Given the description of an element on the screen output the (x, y) to click on. 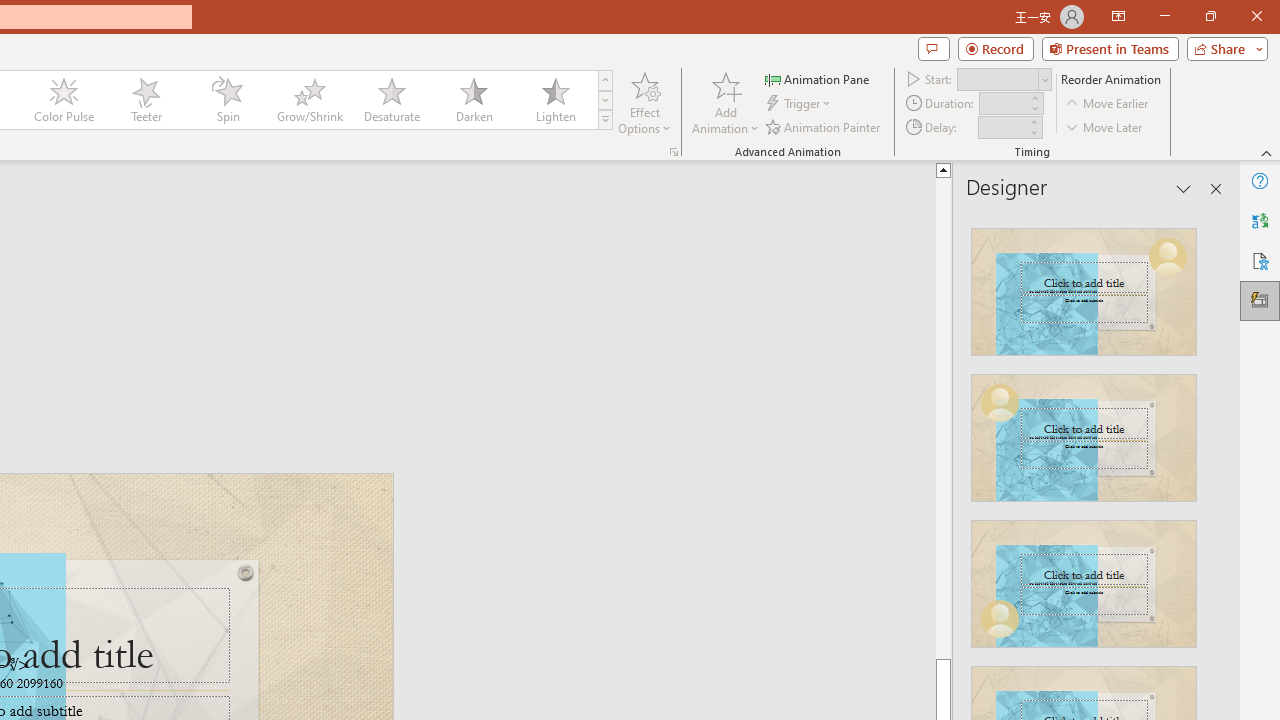
Move Earlier (1107, 103)
Recommended Design: Design Idea (1083, 286)
Design Idea (1083, 577)
Spin (227, 100)
Desaturate (391, 100)
Grow/Shrink (309, 100)
Trigger (799, 103)
Teeter (145, 100)
Move Later (1105, 126)
Animation Pane (818, 78)
